Given the description of an element on the screen output the (x, y) to click on. 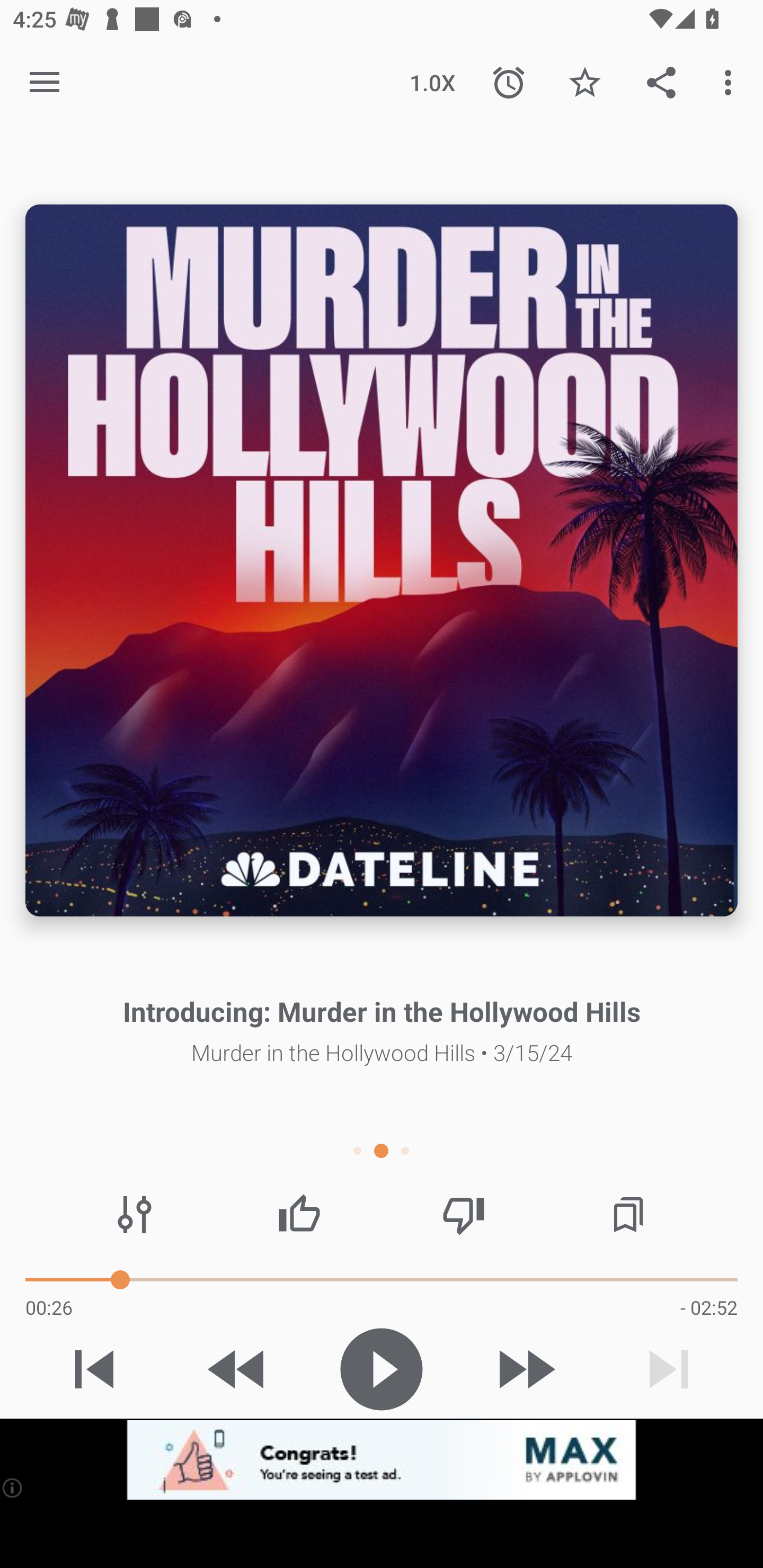
Open navigation sidebar (44, 82)
1.0X (432, 81)
Sleep Timer (508, 81)
Favorite (585, 81)
Share (661, 81)
More options (731, 81)
Episode description (381, 559)
Audio effects (134, 1214)
Thumbs up (298, 1214)
Thumbs down (463, 1214)
Chapters / Bookmarks (628, 1214)
- 02:52 (708, 1306)
Previous track (94, 1369)
Skip 15s backward (237, 1369)
Play / Pause (381, 1369)
Skip 30s forward (525, 1369)
Next track (668, 1369)
app-monetization (381, 1459)
(i) (11, 1487)
